Given the description of an element on the screen output the (x, y) to click on. 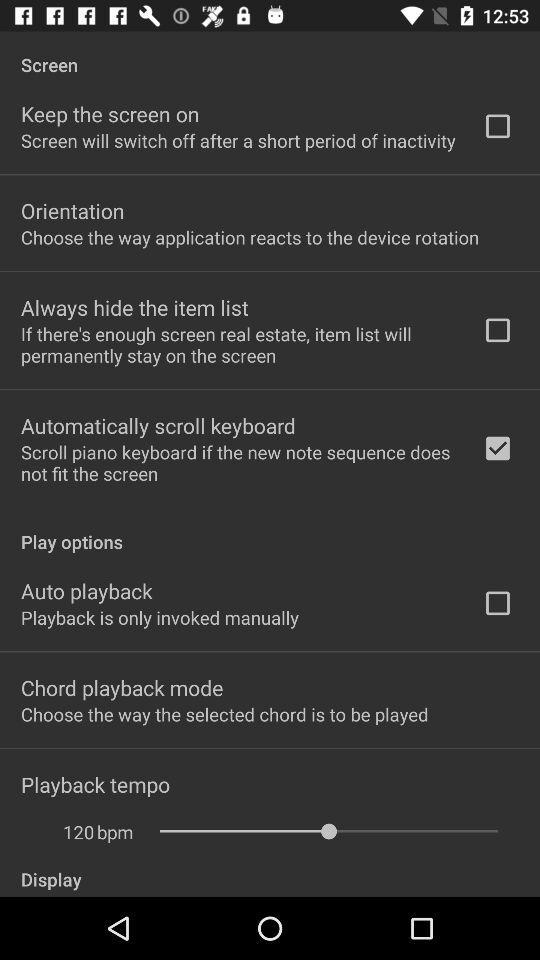
select the app above the playback is only icon (86, 590)
